Given the description of an element on the screen output the (x, y) to click on. 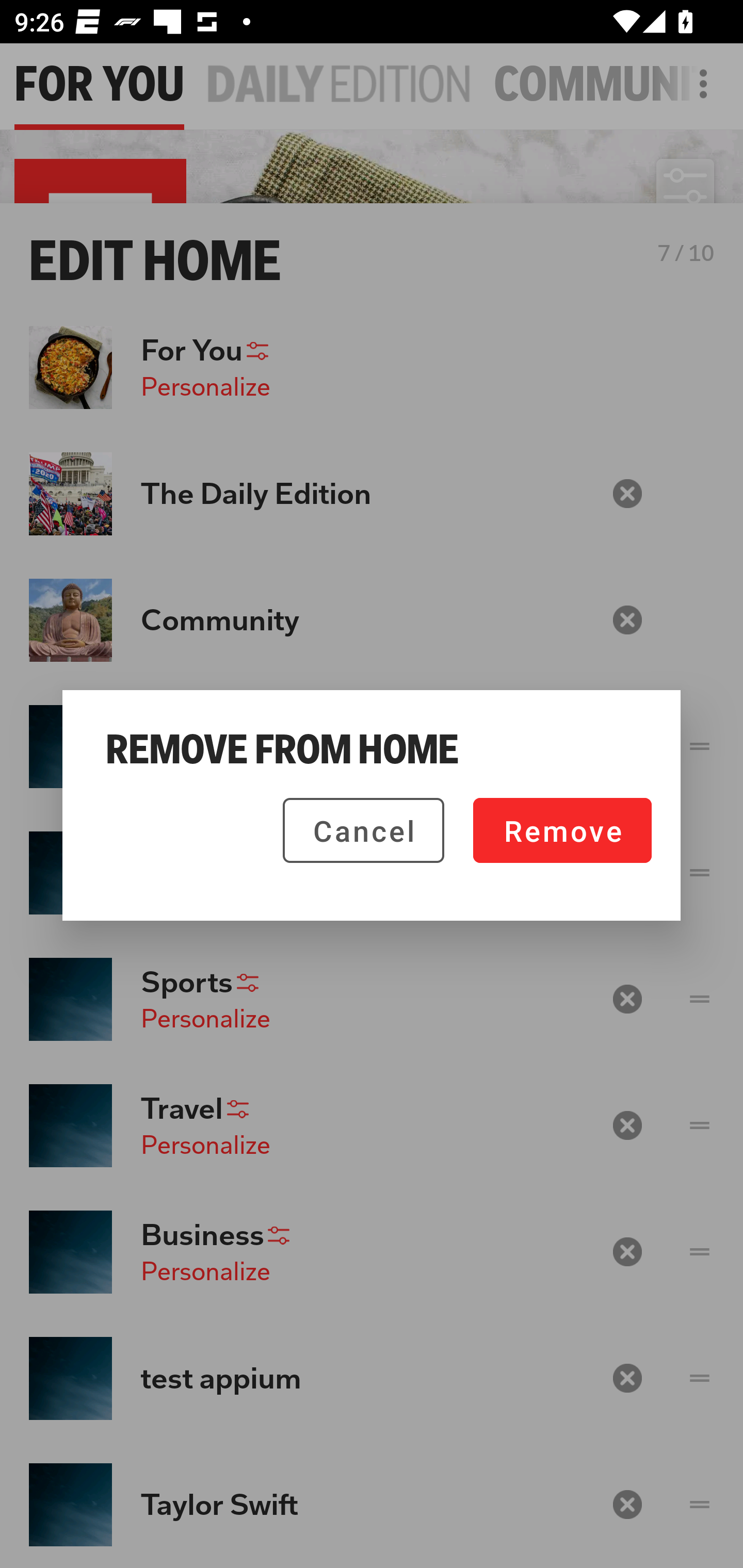
Cancel (363, 830)
Remove (562, 830)
